Given the description of an element on the screen output the (x, y) to click on. 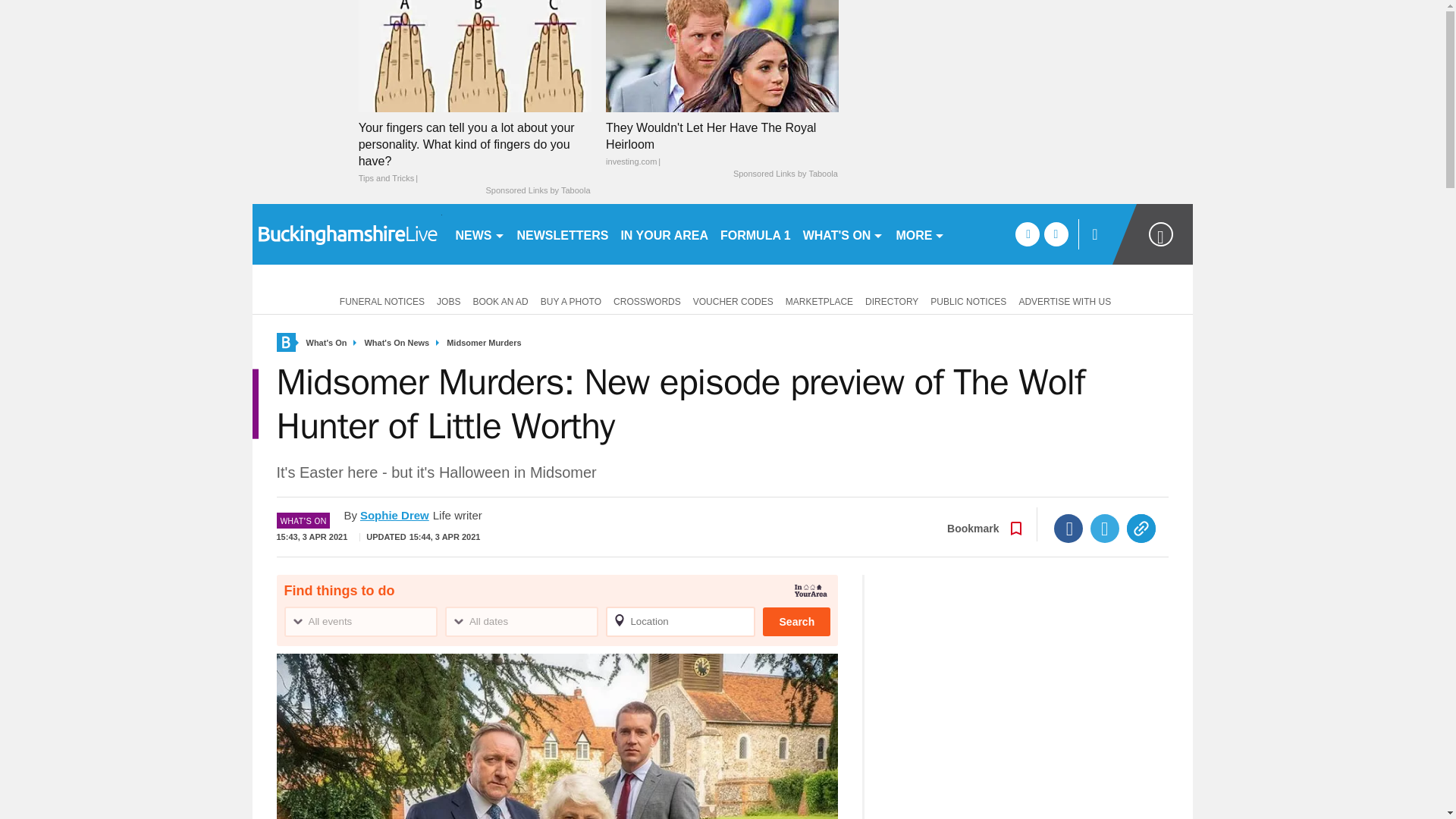
FUNERAL NOTICES (378, 300)
Twitter (1104, 528)
JOBS (447, 300)
WHAT'S ON (842, 233)
VOUCHER CODES (732, 300)
BOOK AN AD (499, 300)
They Wouldn't Let Her Have The Royal Heirloom (721, 144)
MARKETPLACE (818, 300)
NEWS (479, 233)
FORMULA 1 (755, 233)
buckinghamshirelive (346, 233)
MORE (919, 233)
Sponsored Links by Taboola (536, 190)
PUBLIC NOTICES (967, 300)
